Given the description of an element on the screen output the (x, y) to click on. 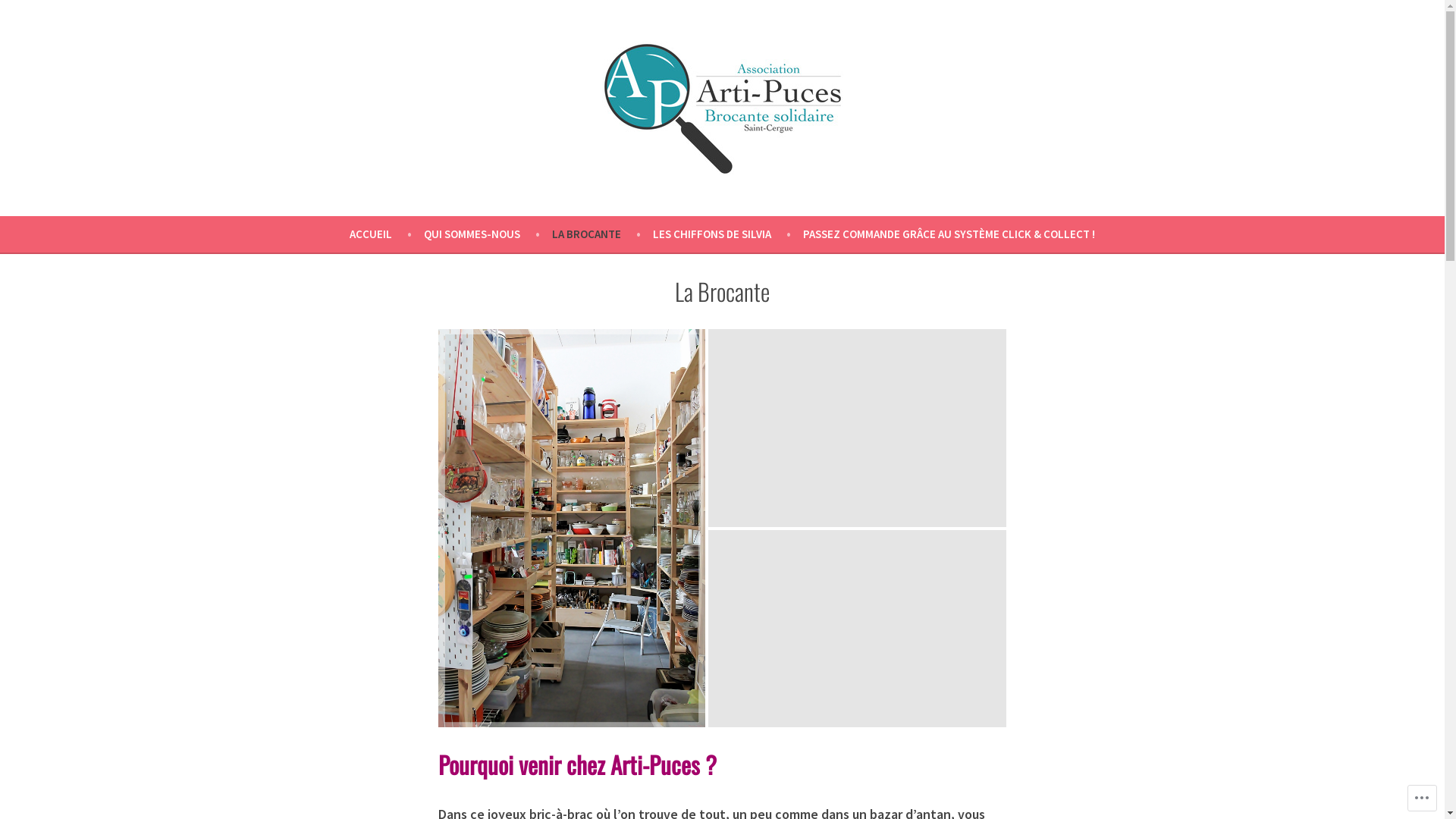
ACCUEIL Element type: text (386, 234)
QUI SOMMES-NOUS Element type: text (487, 234)
Association Arti-Puces Element type: text (109, 194)
LES CHIFFONS DE SILVIA Element type: text (727, 234)
LA BROCANTE Element type: text (602, 234)
